Given the description of an element on the screen output the (x, y) to click on. 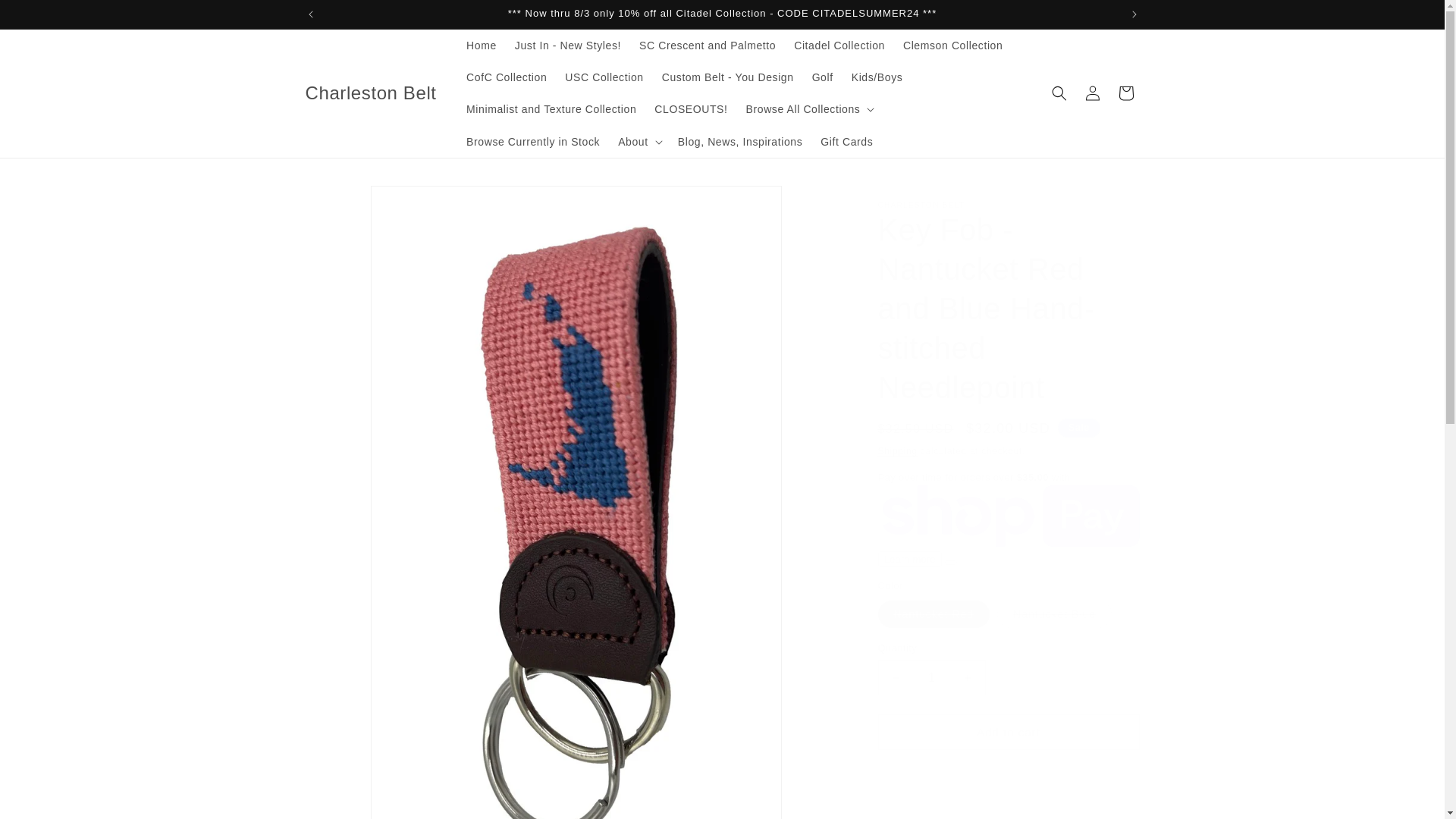
1 (931, 677)
Skip to content (45, 17)
